Given the description of an element on the screen output the (x, y) to click on. 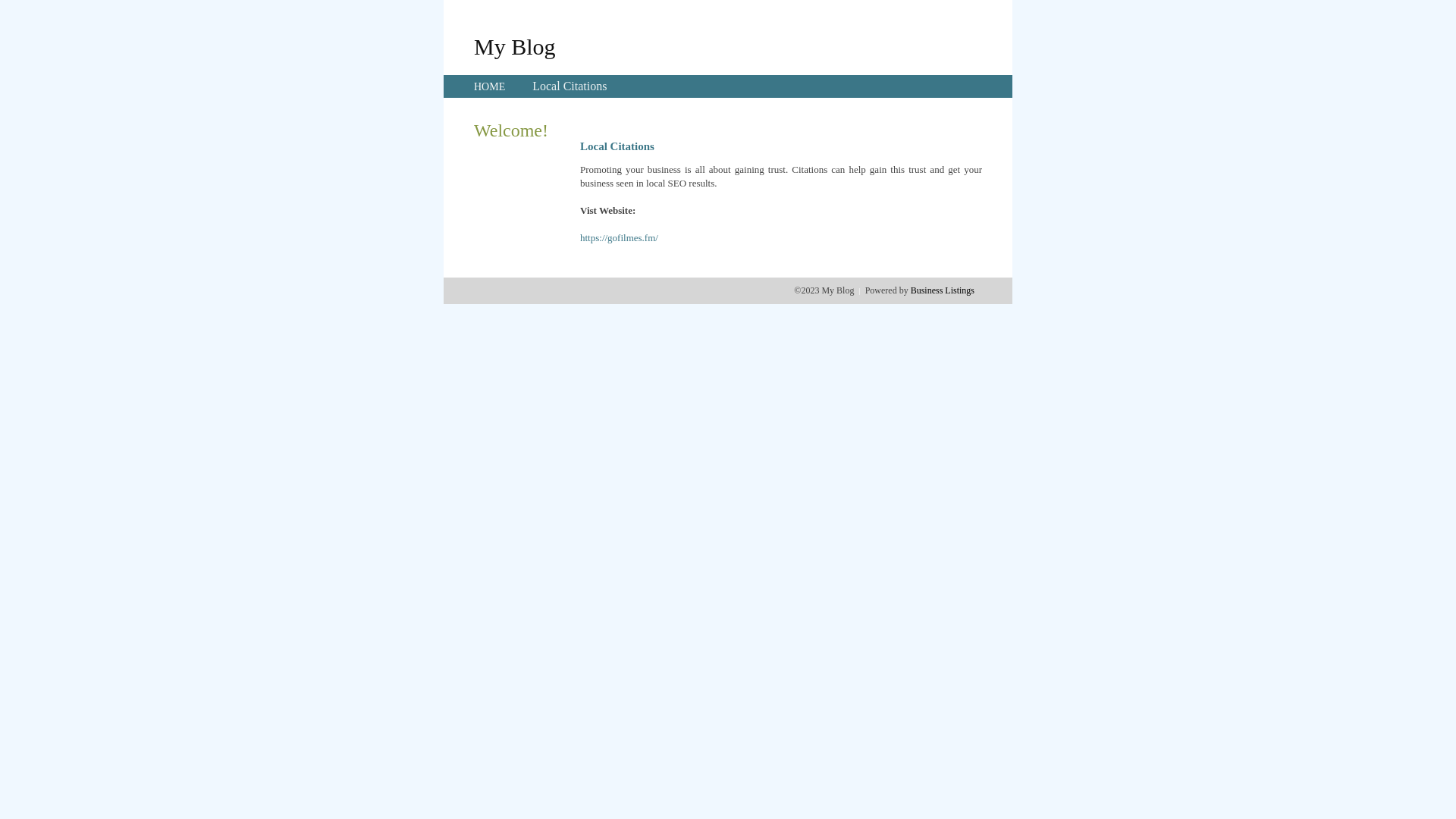
https://gofilmes.fm/ Element type: text (619, 237)
Business Listings Element type: text (942, 290)
HOME Element type: text (489, 86)
Local Citations Element type: text (569, 85)
My Blog Element type: text (514, 46)
